Given the description of an element on the screen output the (x, y) to click on. 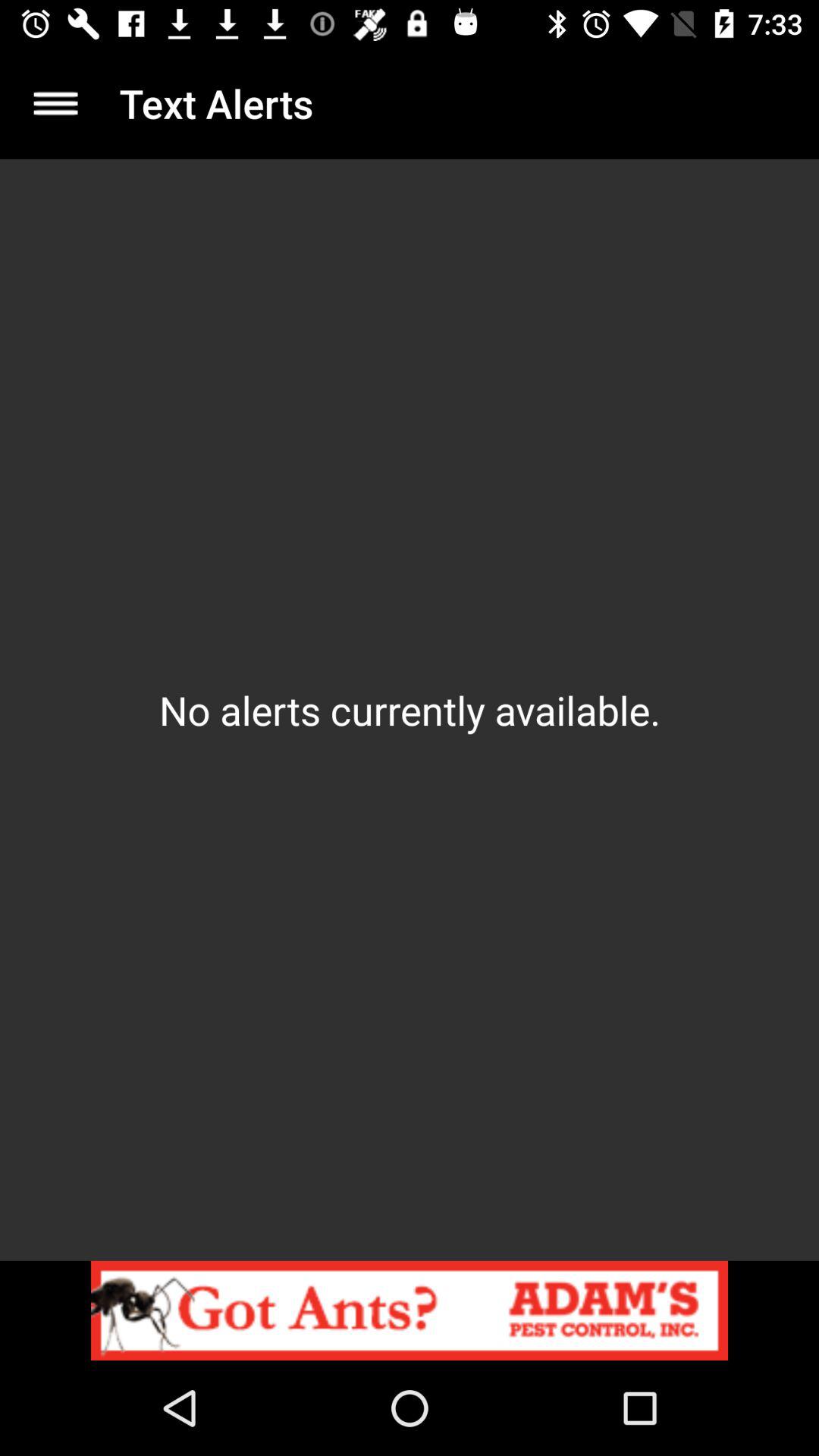
press icon above the no alerts currently item (55, 103)
